Given the description of an element on the screen output the (x, y) to click on. 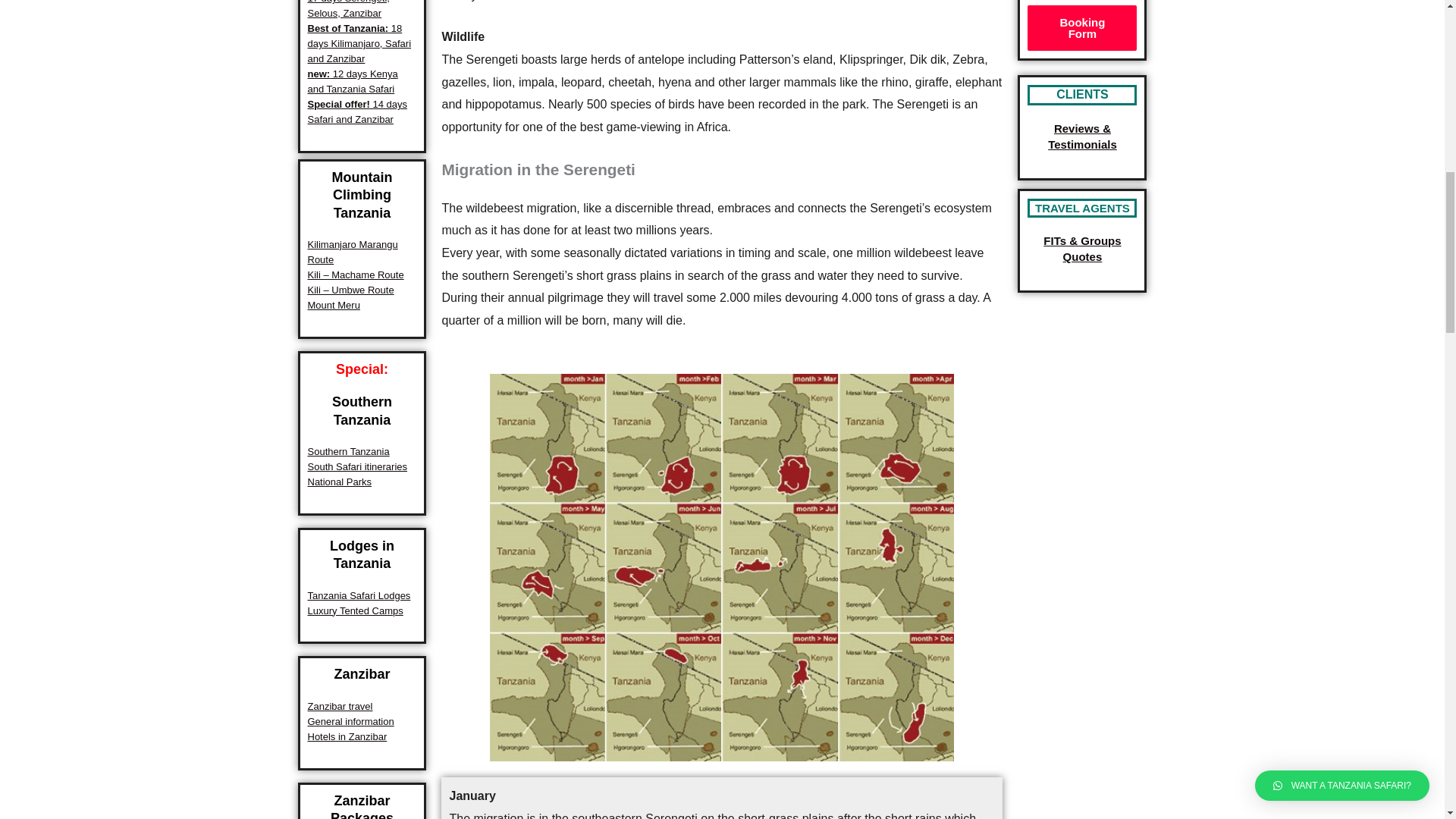
National Parks (339, 481)
Zanzibar travel (339, 706)
South Safari itineraries (357, 466)
Hotels in Zanzibar (347, 736)
Southern Tanzania (348, 451)
17 days Serengeti, Selous, Zanzibar (348, 9)
Best of Tanzania: 18 days Kilimanjaro, Safari and Zanzibar (359, 43)
Tanzania Safari Lodges (358, 595)
Mount Meru (333, 305)
Special offer! 14 days Safari and Zanzibar (357, 111)
General information (350, 721)
new: 12 days Kenya and Tanzania Safari (352, 81)
Kilimanjaro Marangu Route (352, 252)
Luxury Tented Camps (355, 610)
